Given the description of an element on the screen output the (x, y) to click on. 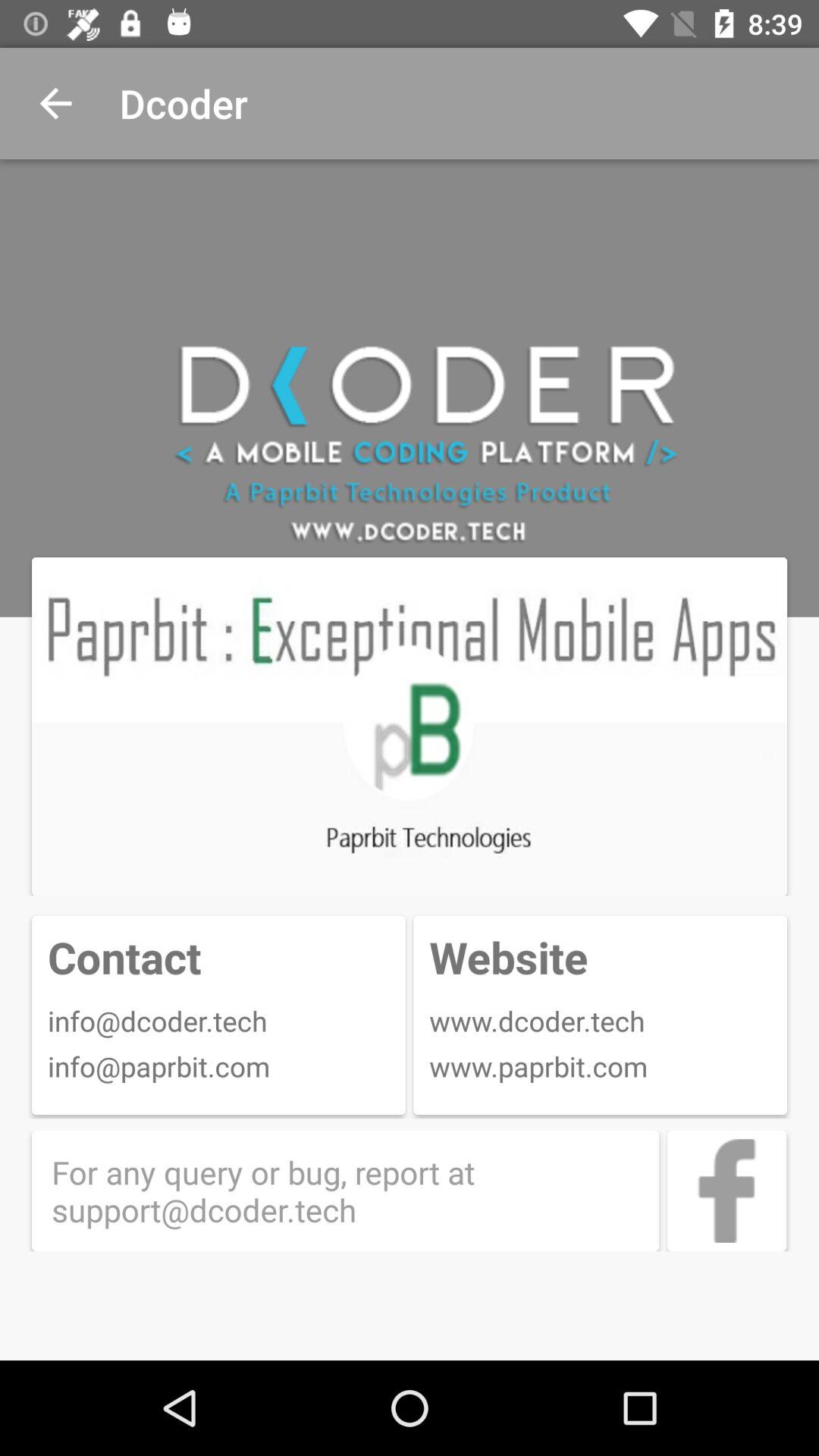
tap item next to the for any query (726, 1190)
